Given the description of an element on the screen output the (x, y) to click on. 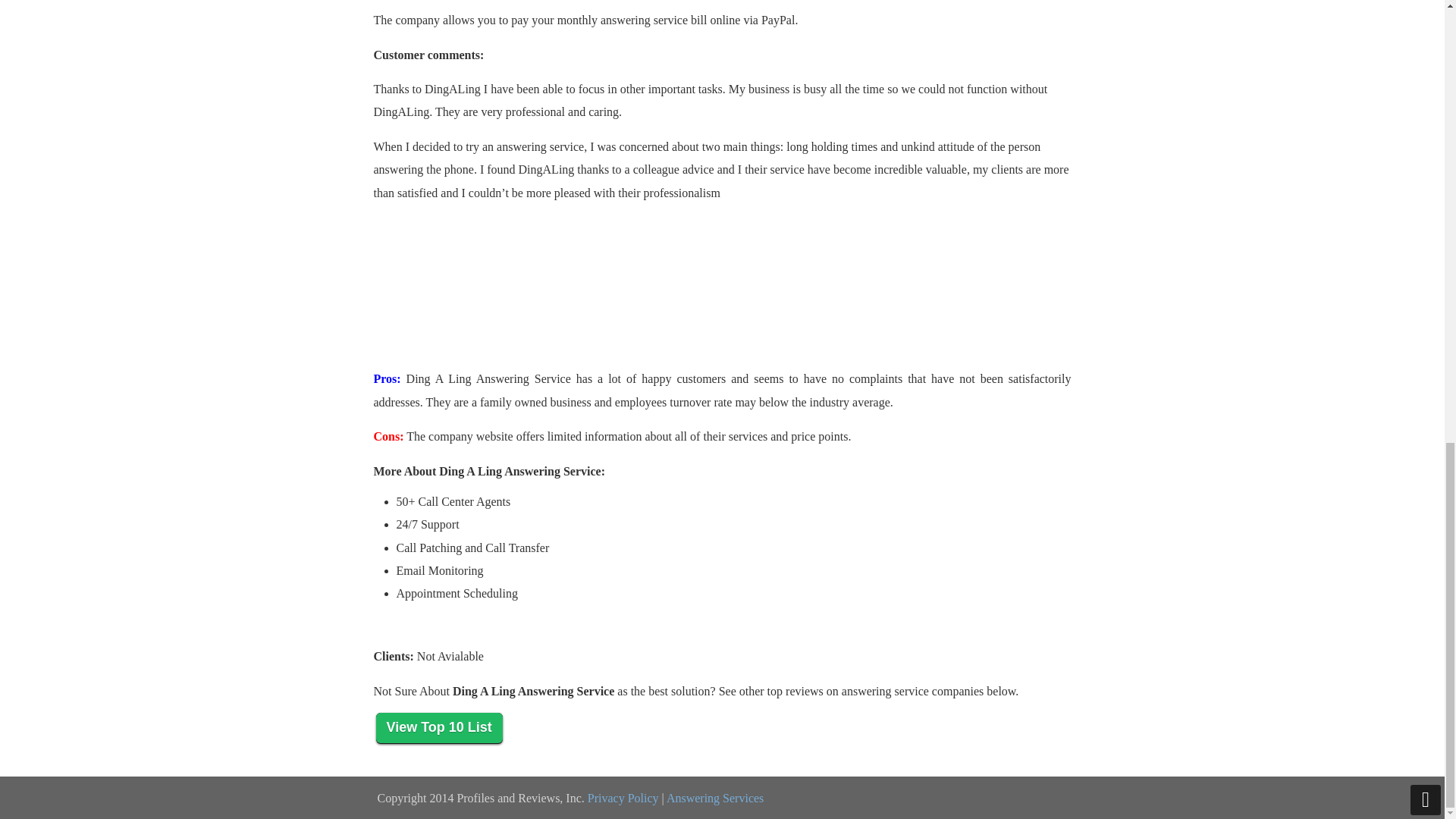
Privacy Policy (623, 797)
Answering Services (714, 797)
View Top 10 List (438, 727)
Answering Service (714, 797)
View Top 10 Ranked Answering Service Companies (438, 727)
Privacy Policy (623, 797)
